Given the description of an element on the screen output the (x, y) to click on. 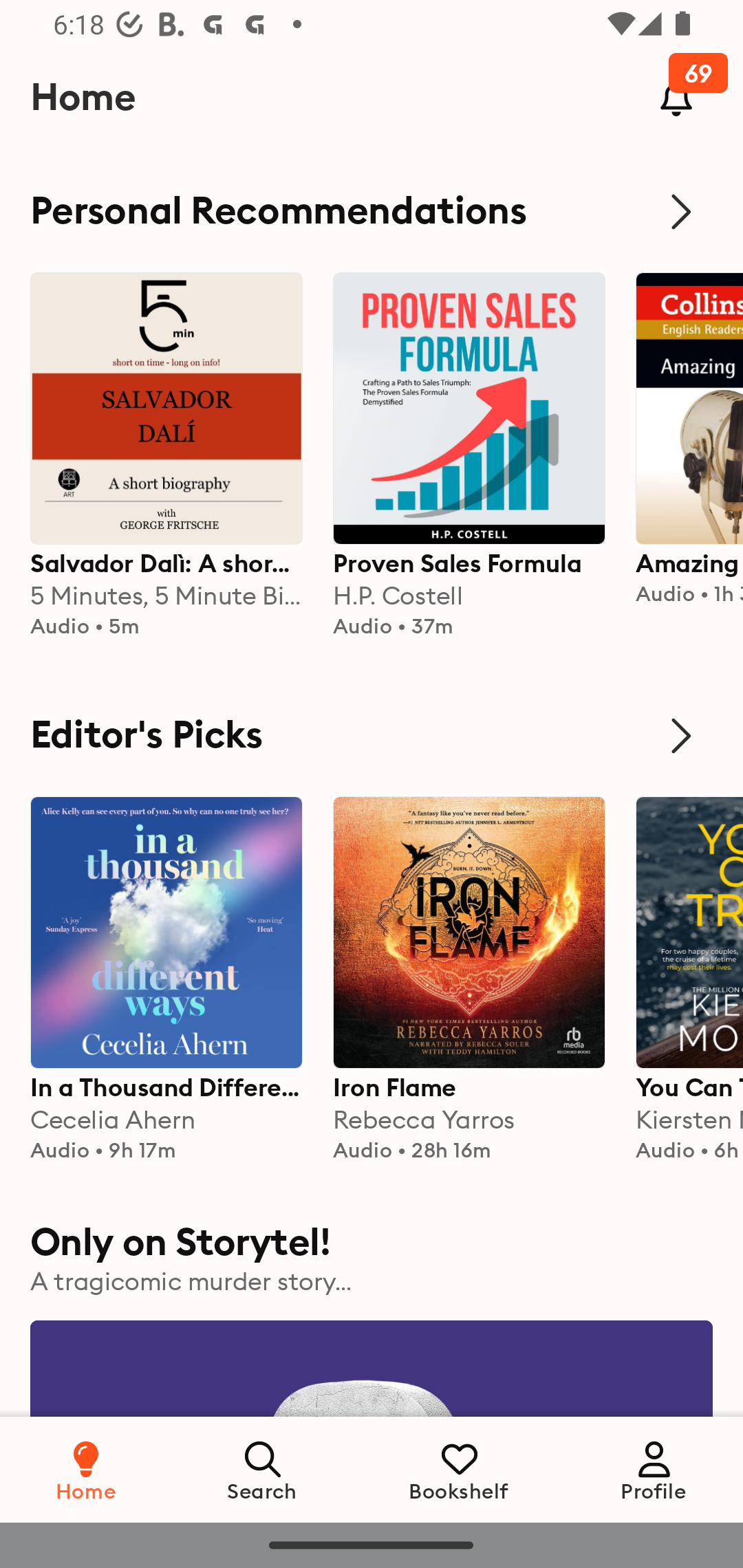
Personal Recommendations (371, 211)
Editor's Picks (371, 735)
Home (85, 1468)
Search (262, 1468)
Bookshelf (458, 1468)
Profile (653, 1468)
